Given the description of an element on the screen output the (x, y) to click on. 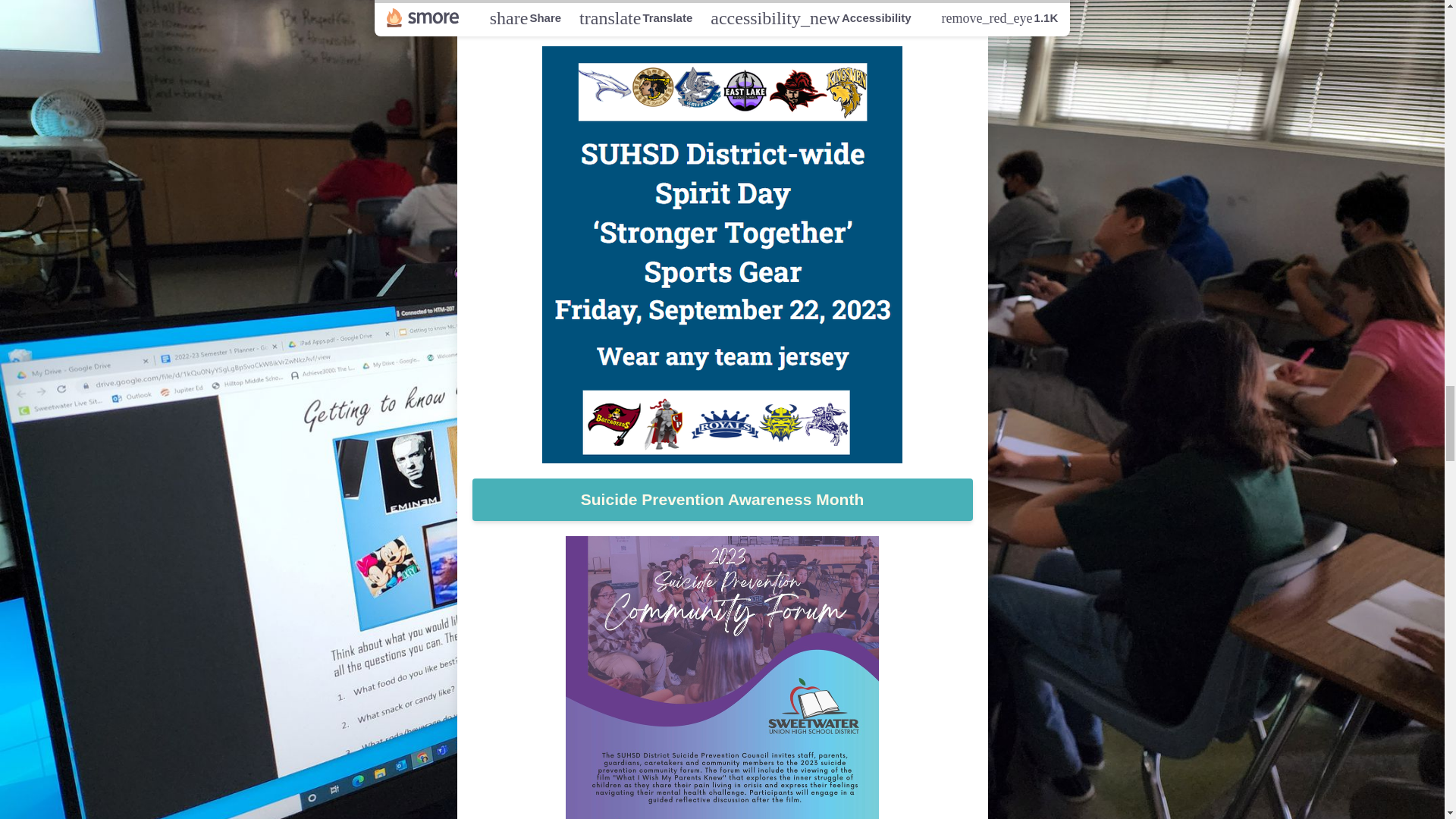
SUHSD District-Wide Spirit Day This Friday (721, 5)
Suicide Prevention Awareness Month (721, 499)
